Given the description of an element on the screen output the (x, y) to click on. 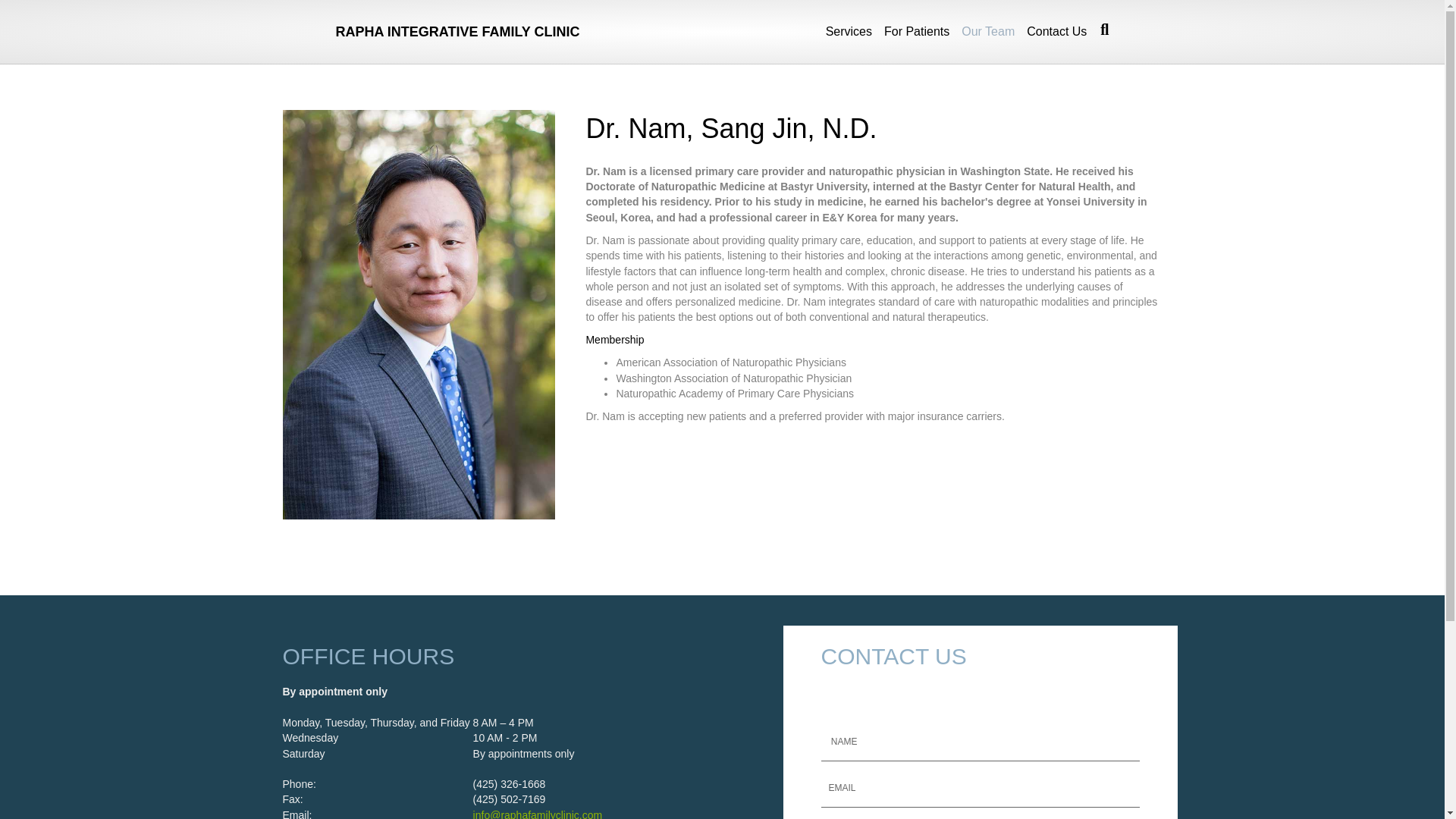
For Patients (916, 31)
Our Team (987, 31)
RAPHA INTEGRATIVE FAMILY CLINIC (457, 31)
Services (848, 31)
Contact Us (1053, 31)
